Given the description of an element on the screen output the (x, y) to click on. 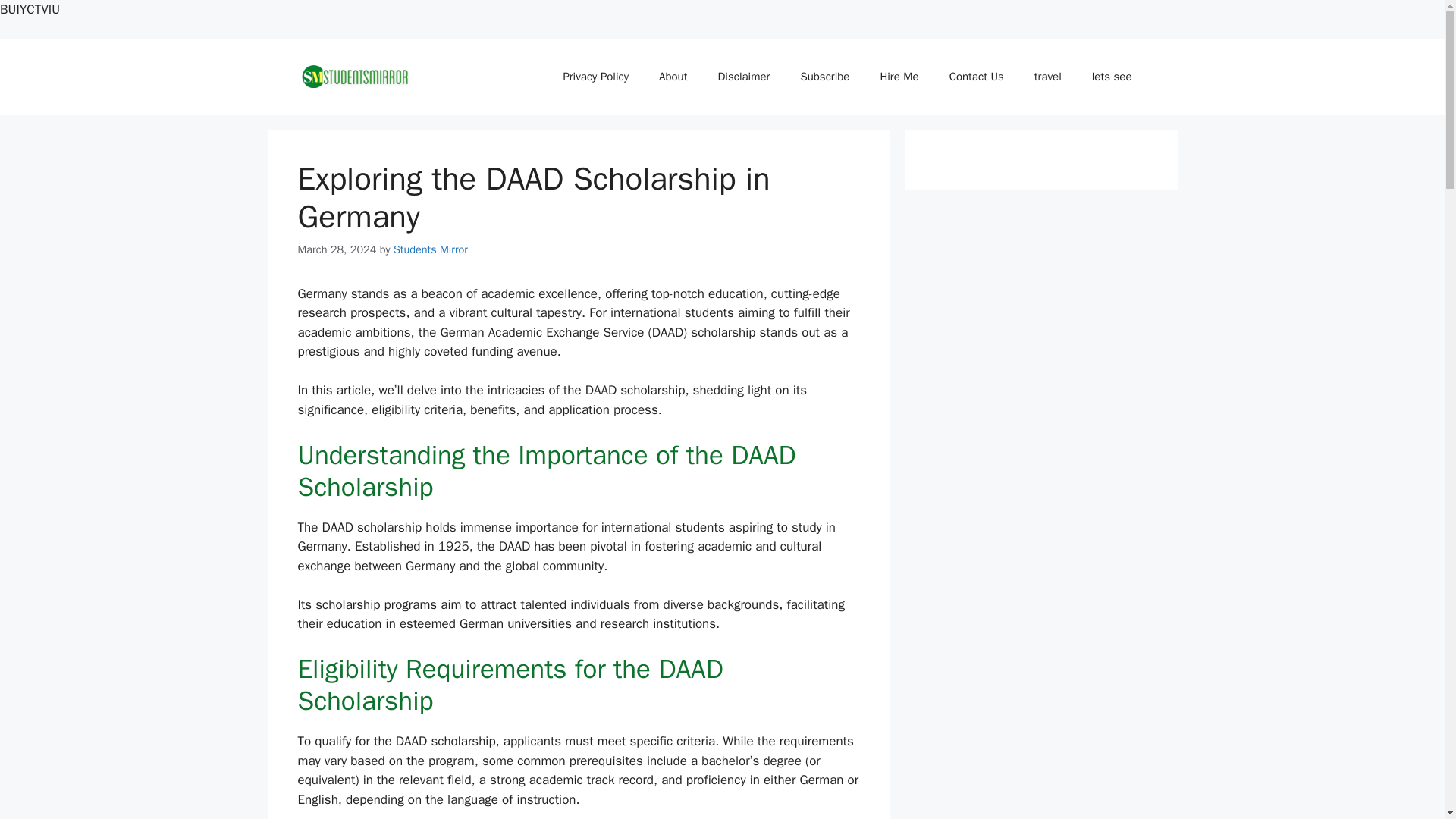
Hire Me (898, 76)
Disclaimer (742, 76)
View all posts by Students Mirror (430, 249)
Subscribe (824, 76)
About (672, 76)
Privacy Policy (595, 76)
Contact Us (976, 76)
travel (1048, 76)
lets see (1112, 76)
Students Mirror (430, 249)
